Given the description of an element on the screen output the (x, y) to click on. 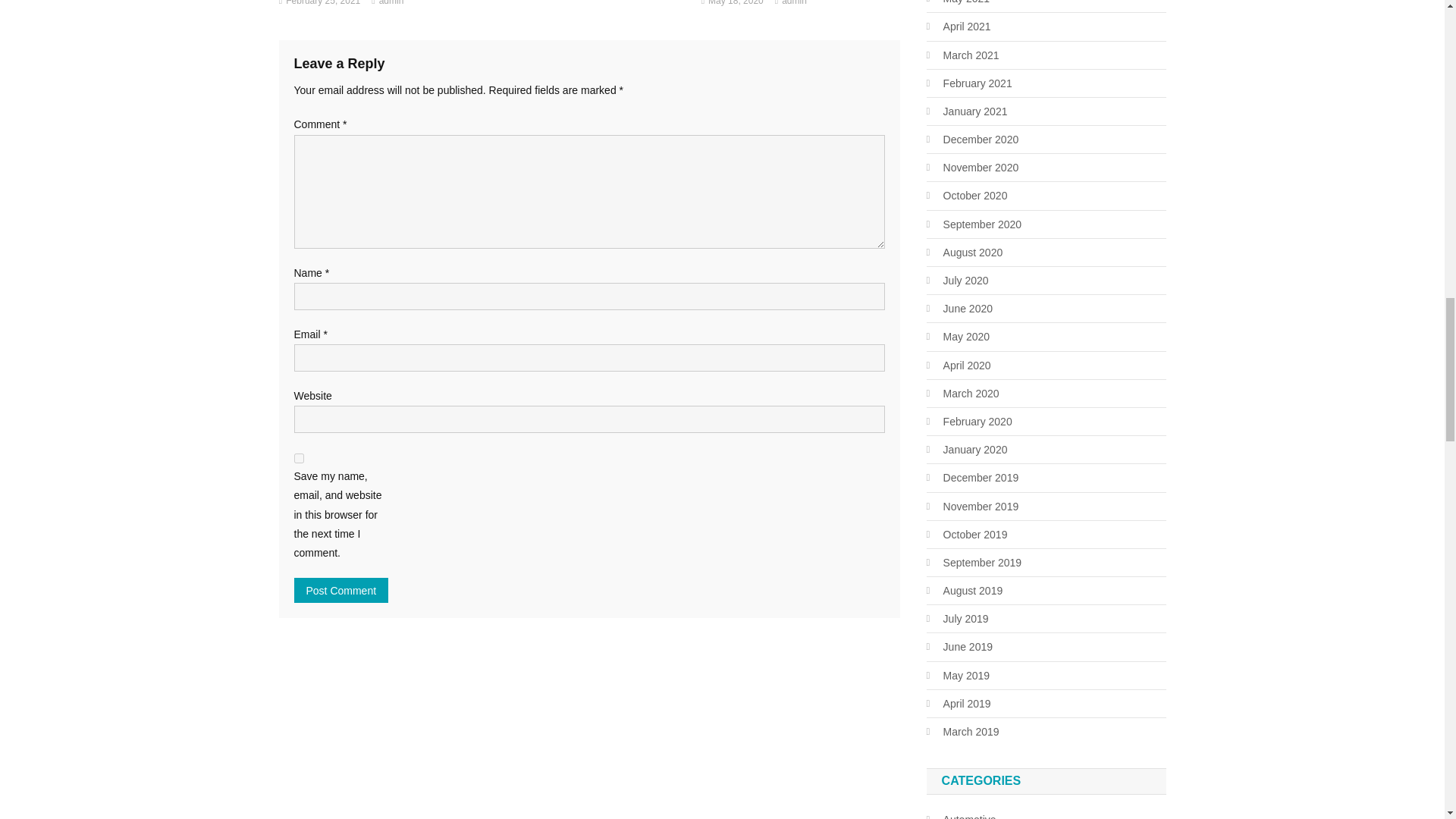
admin (391, 4)
Post Comment (341, 590)
Post Comment (341, 590)
February 25, 2021 (322, 4)
admin (793, 4)
May 18, 2020 (734, 4)
yes (299, 458)
